Given the description of an element on the screen output the (x, y) to click on. 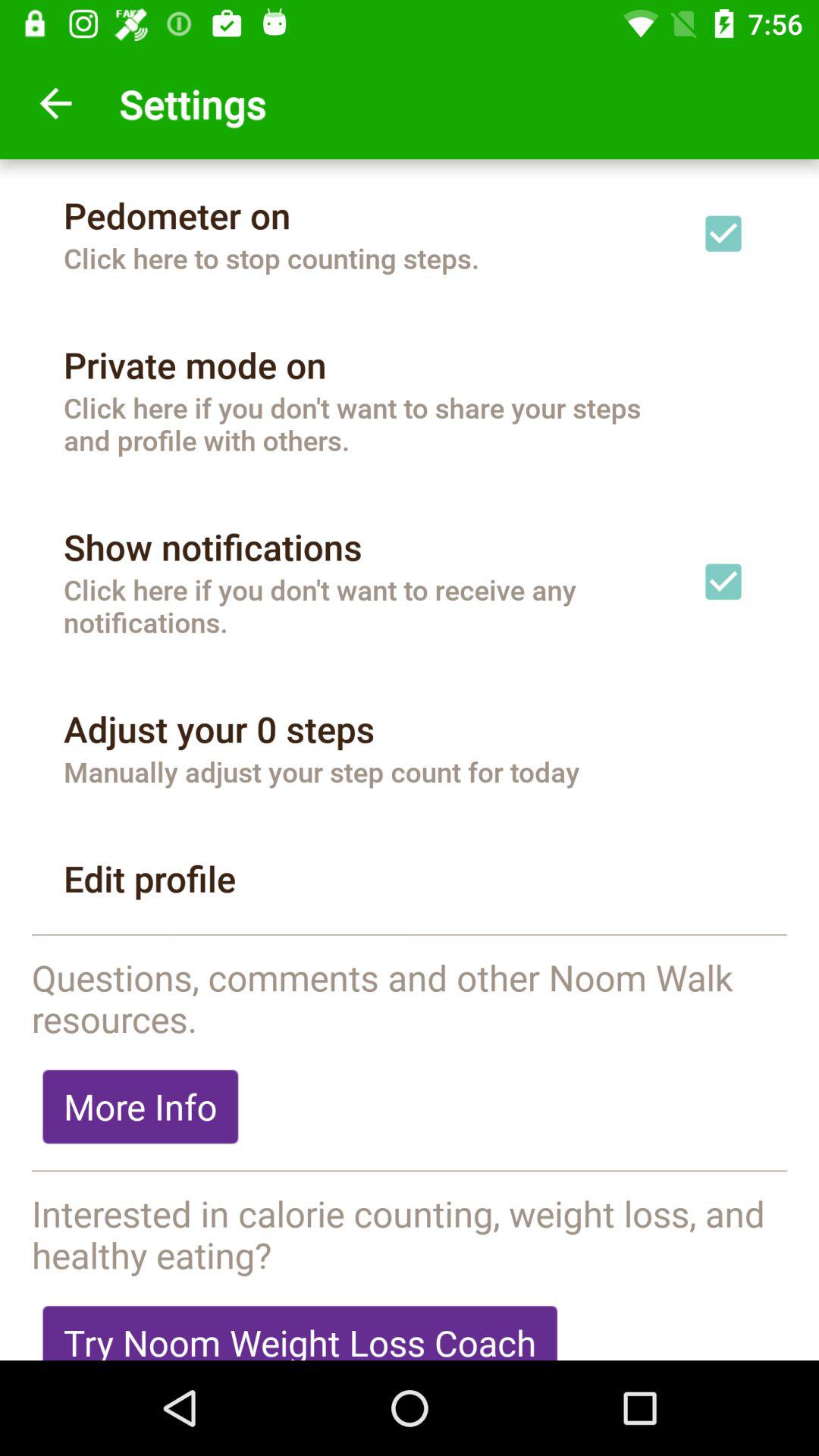
select the item below the click here if (212, 546)
